Given the description of an element on the screen output the (x, y) to click on. 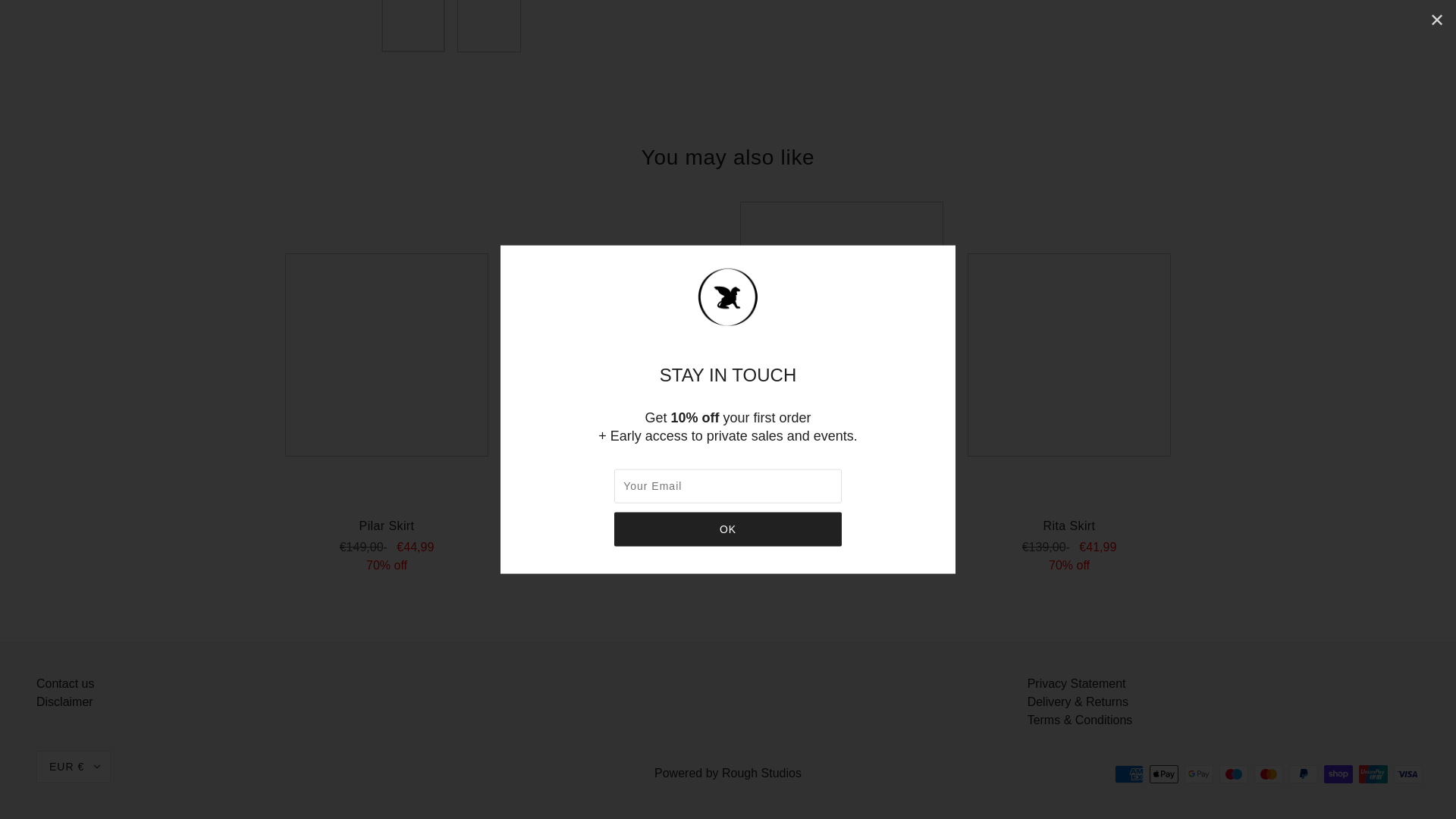
Visa (1407, 773)
Maestro (1233, 773)
Apple Pay (1163, 773)
Google Pay (1198, 773)
Union Pay (1372, 773)
American Express (1128, 773)
PayPal (1302, 773)
Mastercard (1267, 773)
Shop Pay (1337, 773)
